Given the description of an element on the screen output the (x, y) to click on. 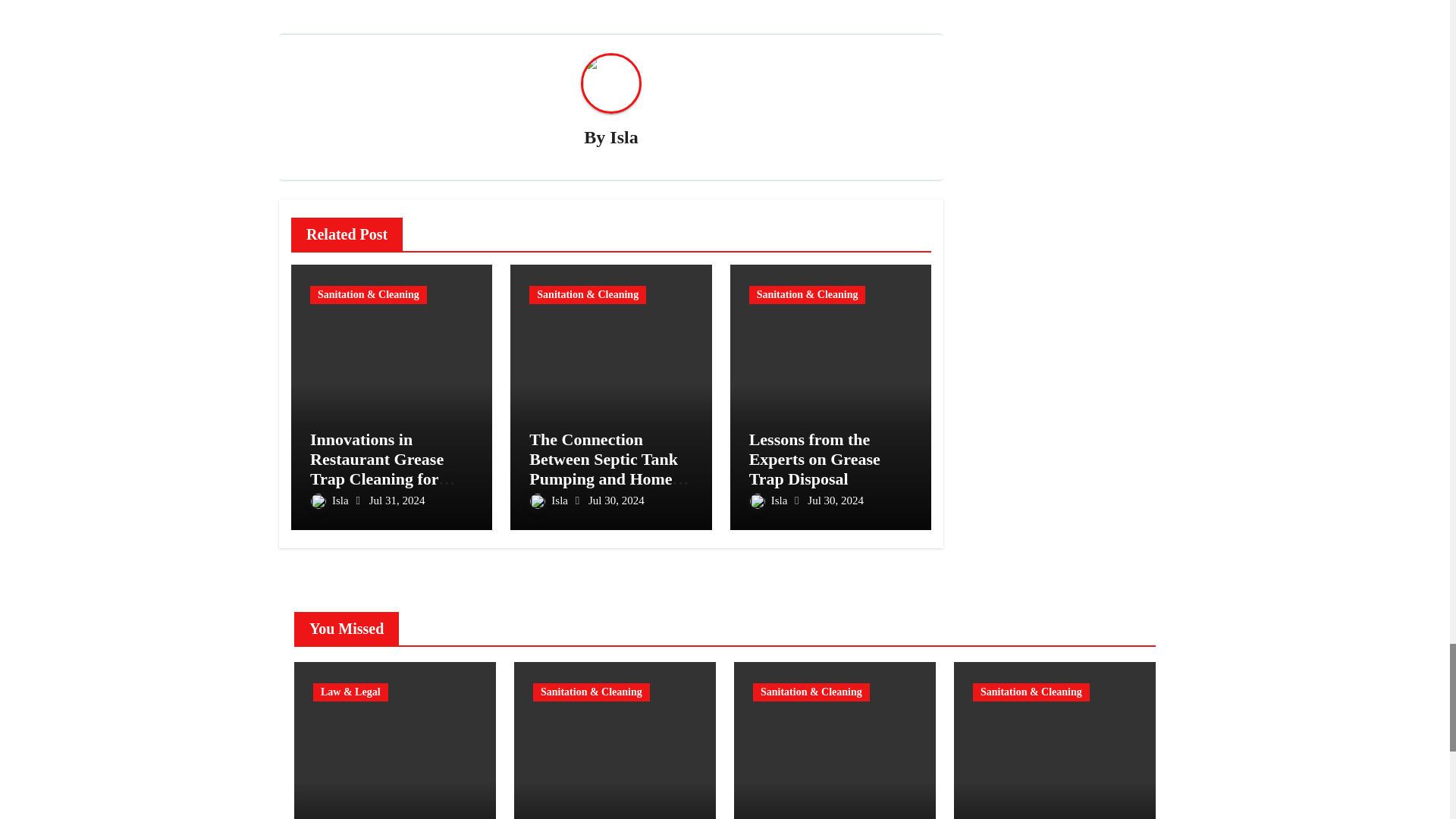
Isla (623, 137)
